Given the description of an element on the screen output the (x, y) to click on. 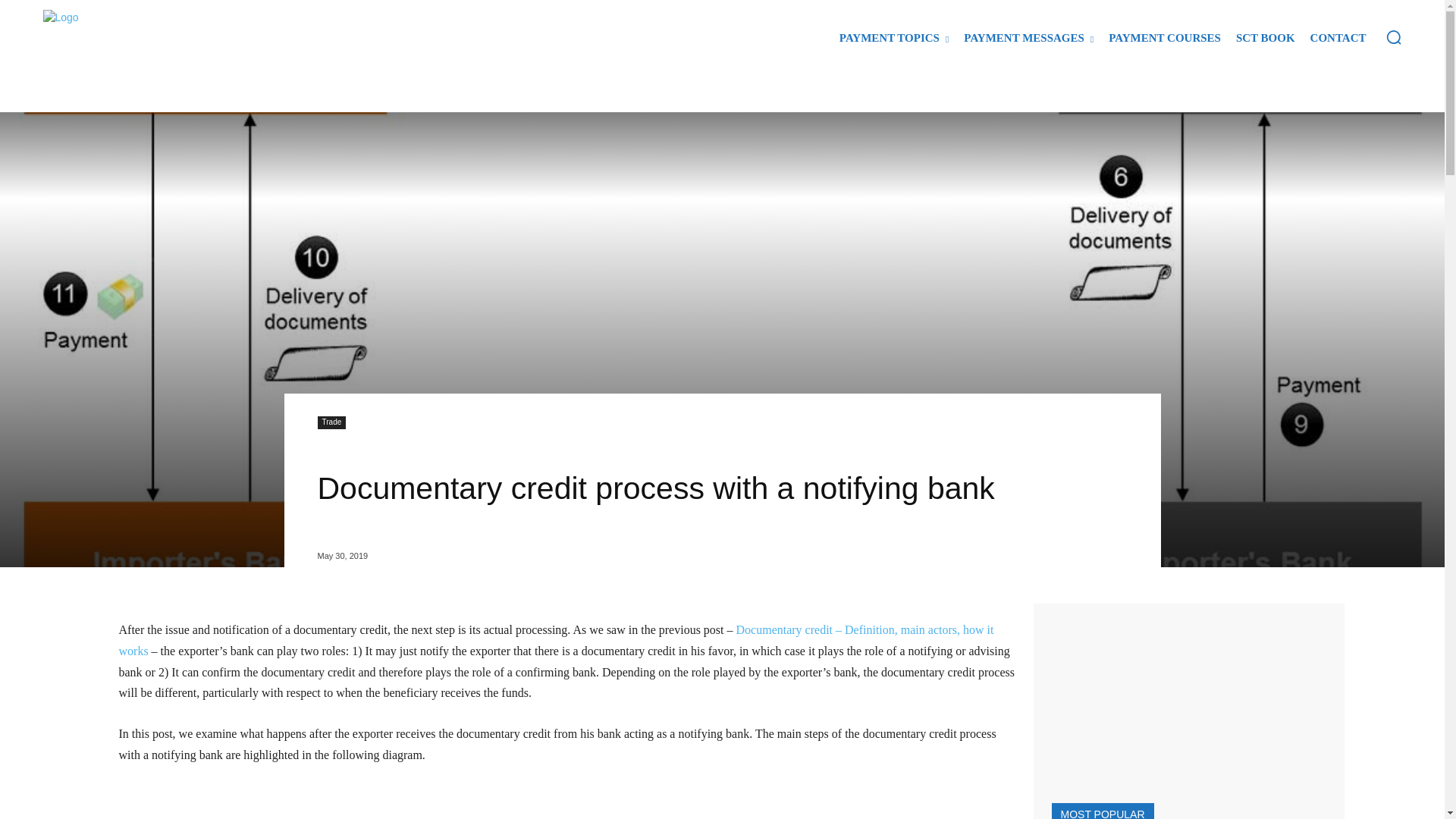
SCT BOOK (1265, 38)
PAYMENT TOPICS (893, 38)
PAYMENT MESSAGES (1028, 38)
PAYMENT COURSES (1164, 38)
CONTACT (1338, 38)
Trade (331, 422)
